Given the description of an element on the screen output the (x, y) to click on. 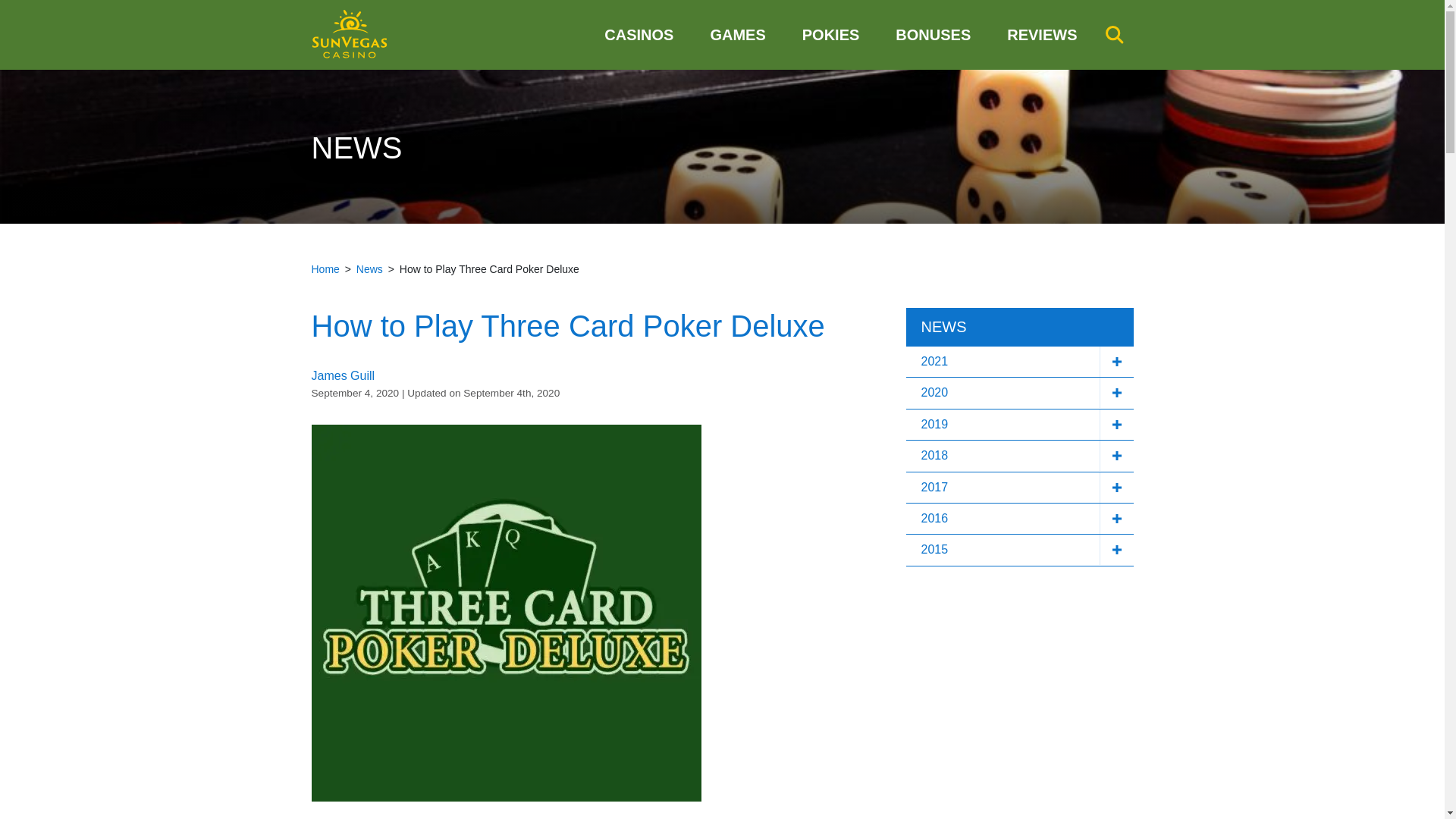
Sun Vegas Casino (349, 34)
POKIES (830, 34)
BONUSES (932, 34)
2018 (1018, 455)
Search (1113, 34)
Home (325, 268)
2020 (1018, 392)
News (369, 268)
GAMES (737, 34)
2019 (1018, 424)
